Given the description of an element on the screen output the (x, y) to click on. 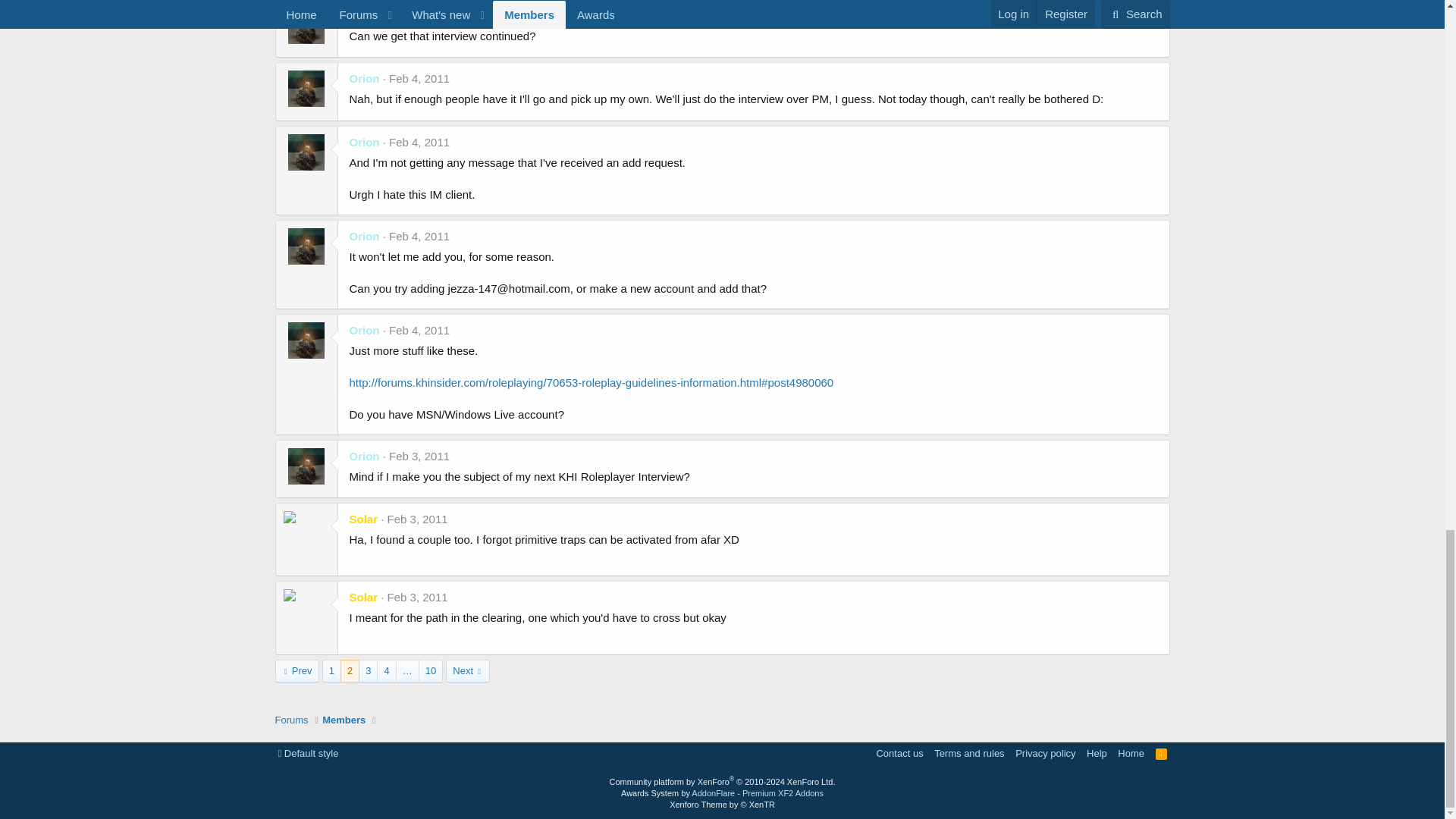
Feb 4, 2011 at 1:15 AM (418, 78)
Feb 4, 2011 at 12:44 AM (418, 141)
Feb 17, 2011 at 7:46 AM (421, 15)
